Given the description of an element on the screen output the (x, y) to click on. 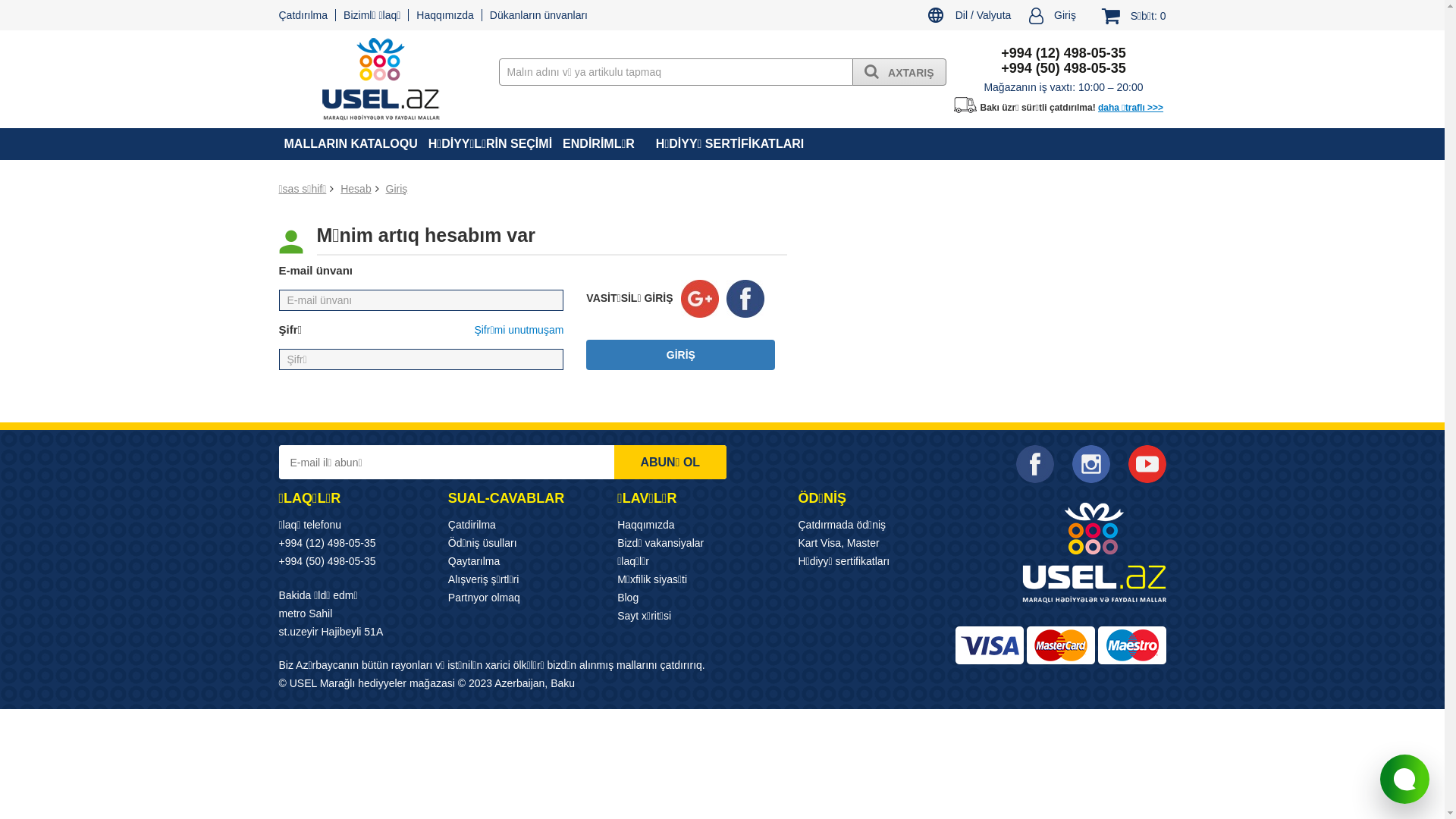
MALLARIN KATALOQU Element type: text (351, 144)
+994 (12) 498-05-35 Element type: text (327, 542)
Hesab Element type: text (355, 188)
Blog Element type: text (627, 597)
Dil / Valyuta Element type: text (969, 17)
Partnyor olmaq Element type: text (484, 597)
+994 (50) 498-05-35 Element type: text (327, 561)
